Given the description of an element on the screen output the (x, y) to click on. 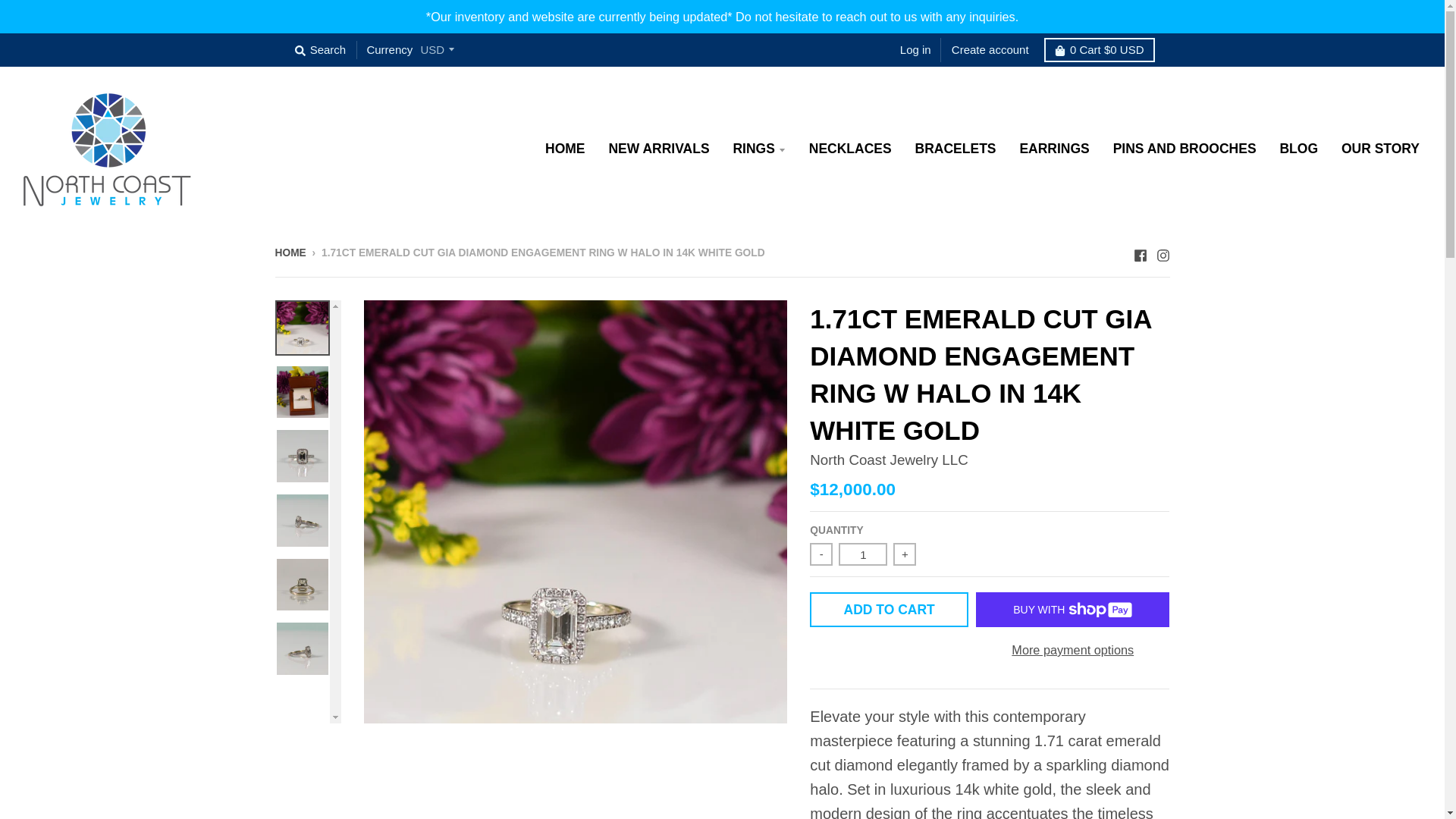
Instagram - North Coast Jewelry LLC (1162, 251)
NECKLACES (850, 147)
North Coast Jewelry LLC (888, 459)
RINGS (758, 147)
Search (319, 49)
Log in (915, 49)
PINS AND BROOCHES (1184, 147)
BLOG (1298, 147)
HOME (565, 147)
BRACELETS (955, 147)
1 (862, 553)
OUR STORY (1380, 147)
Create account (990, 49)
Facebook - North Coast Jewelry LLC (1139, 251)
Back to the frontpage (290, 252)
